Given the description of an element on the screen output the (x, y) to click on. 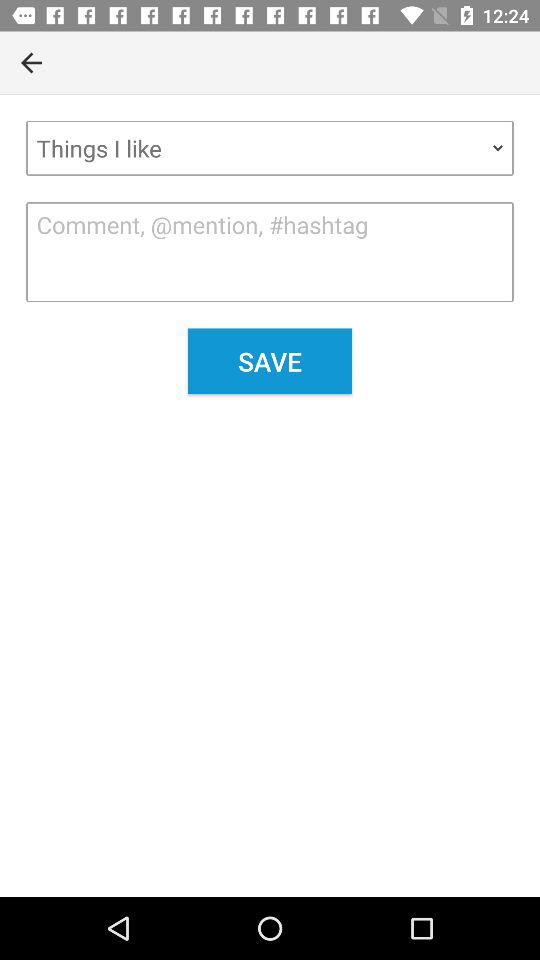
jump until save icon (269, 361)
